Given the description of an element on the screen output the (x, y) to click on. 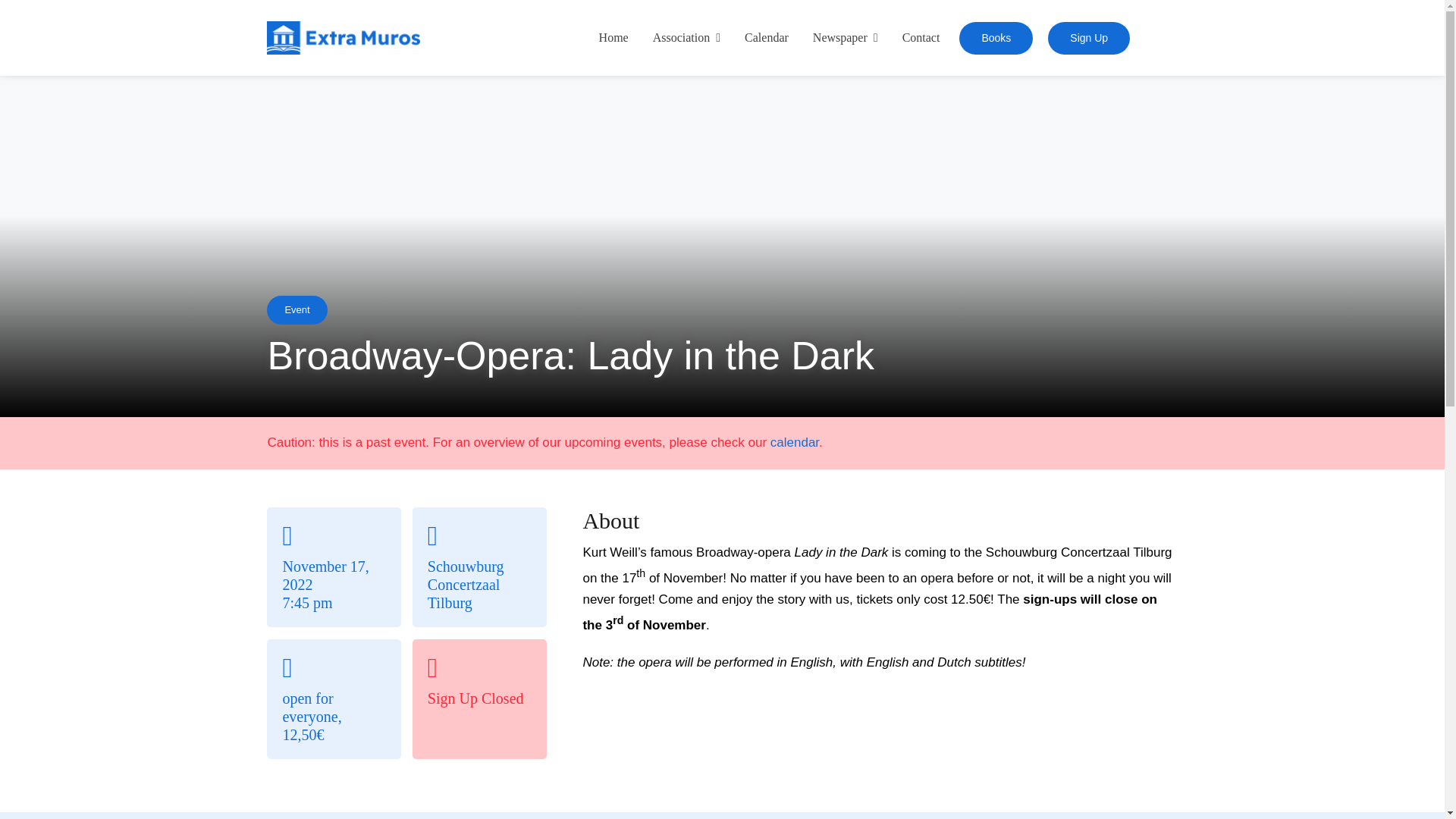
Sign Up (1088, 38)
Association (686, 38)
Books (995, 38)
Newspaper (845, 38)
